Given the description of an element on the screen output the (x, y) to click on. 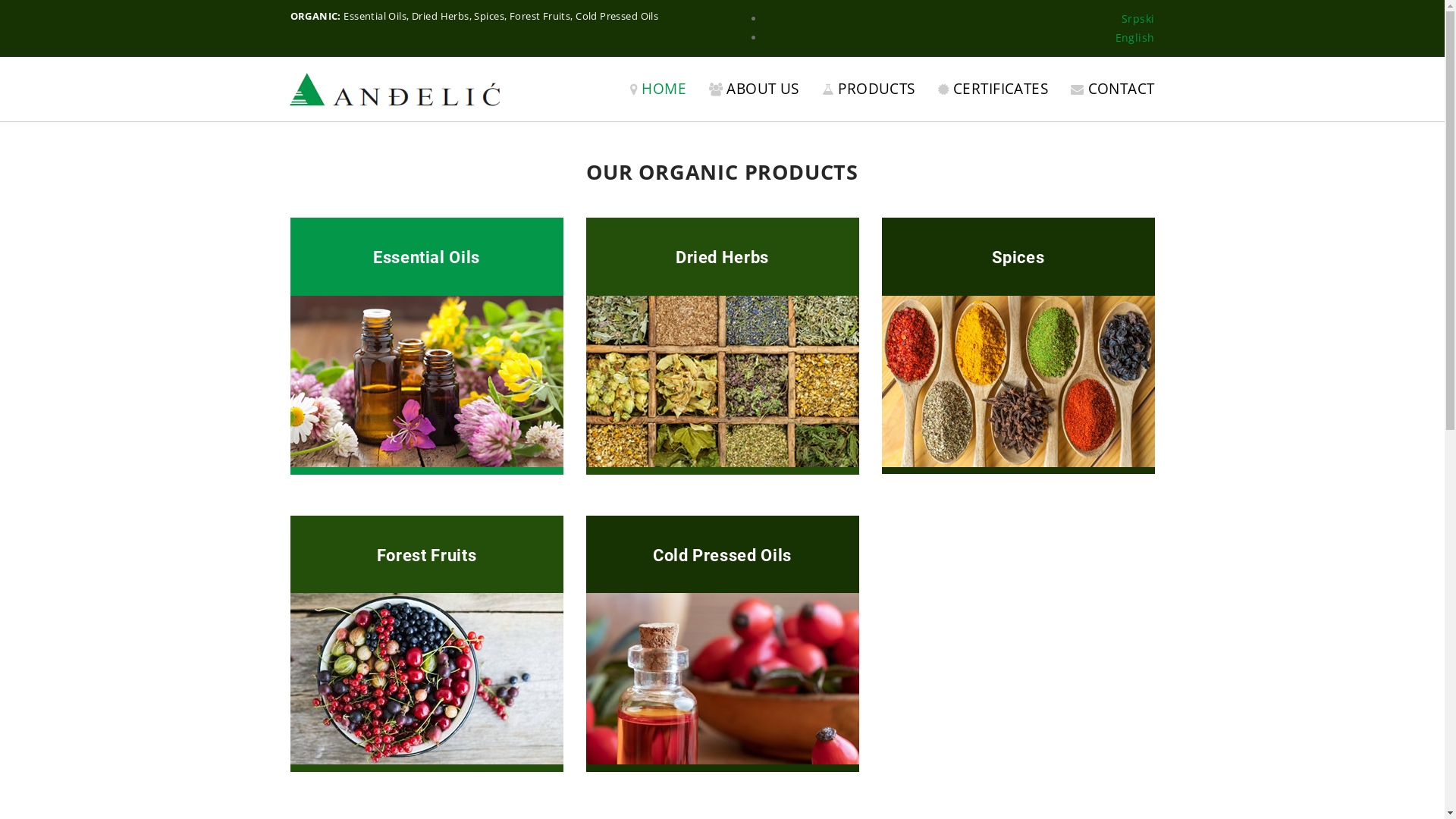
English Element type: text (1134, 37)
CERTIFICATES Element type: text (992, 88)
PRODUCTS Element type: text (868, 88)
HOME Element type: text (657, 88)
CONTACT Element type: text (1112, 88)
ABOUT US Element type: text (753, 88)
Srpski Element type: text (1137, 18)
